Given the description of an element on the screen output the (x, y) to click on. 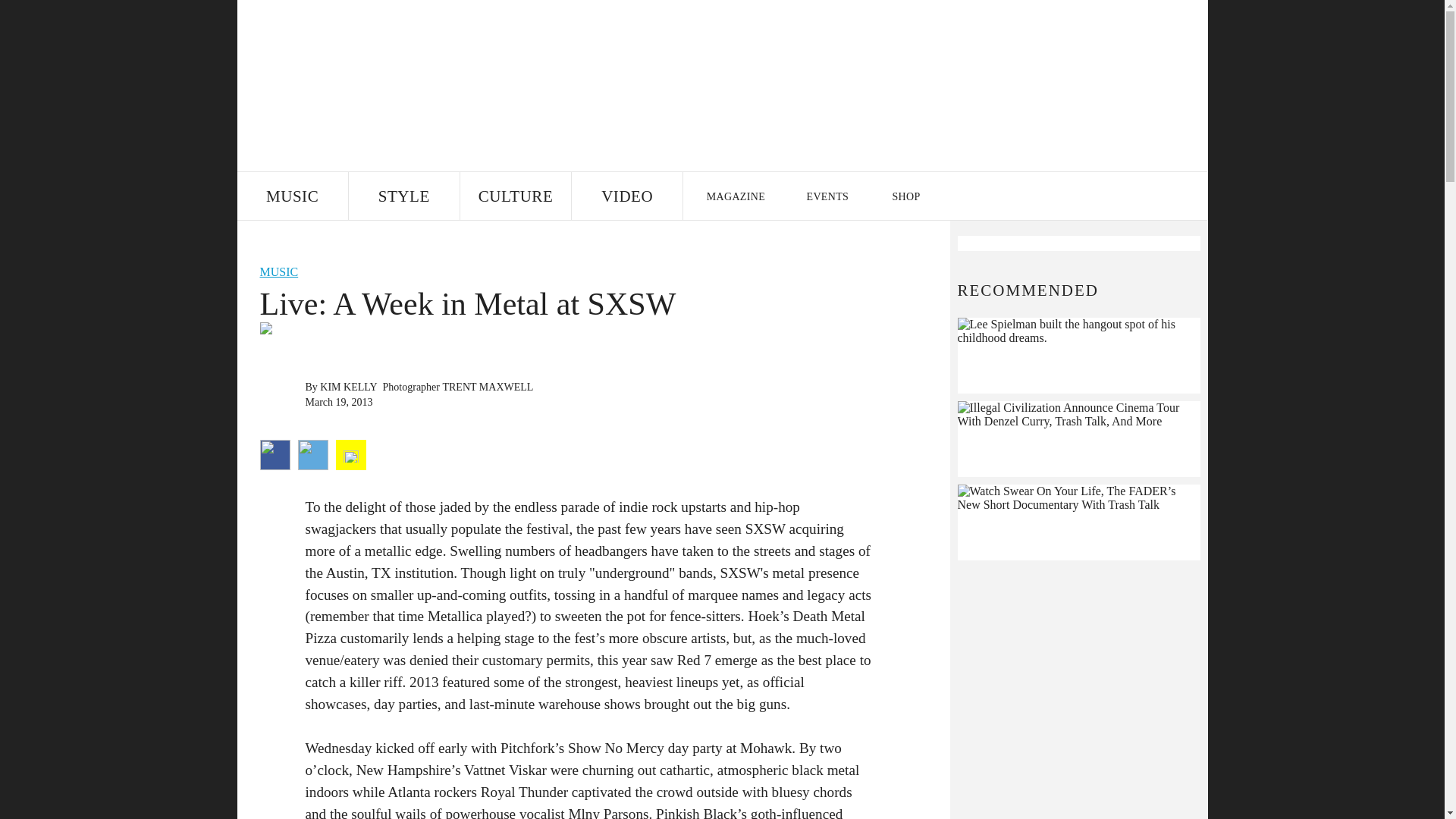
STYLE (404, 196)
VIDEO (627, 196)
MAGAZINE (734, 196)
SHOP (905, 196)
MUSIC (291, 196)
CULTURE (515, 196)
EVENTS (828, 196)
